Given the description of an element on the screen output the (x, y) to click on. 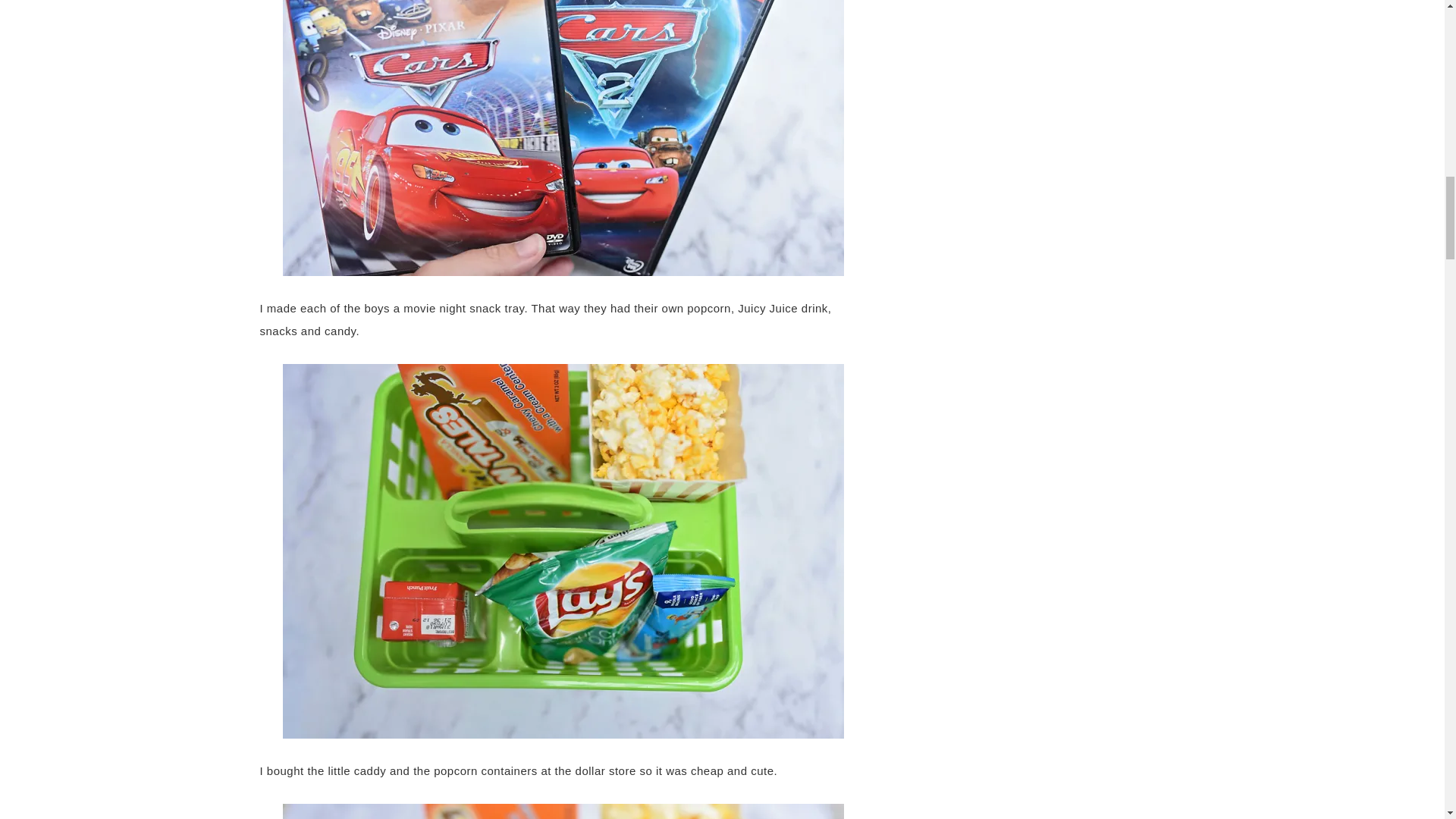
Movie Night Snack Tray (562, 811)
